Given the description of an element on the screen output the (x, y) to click on. 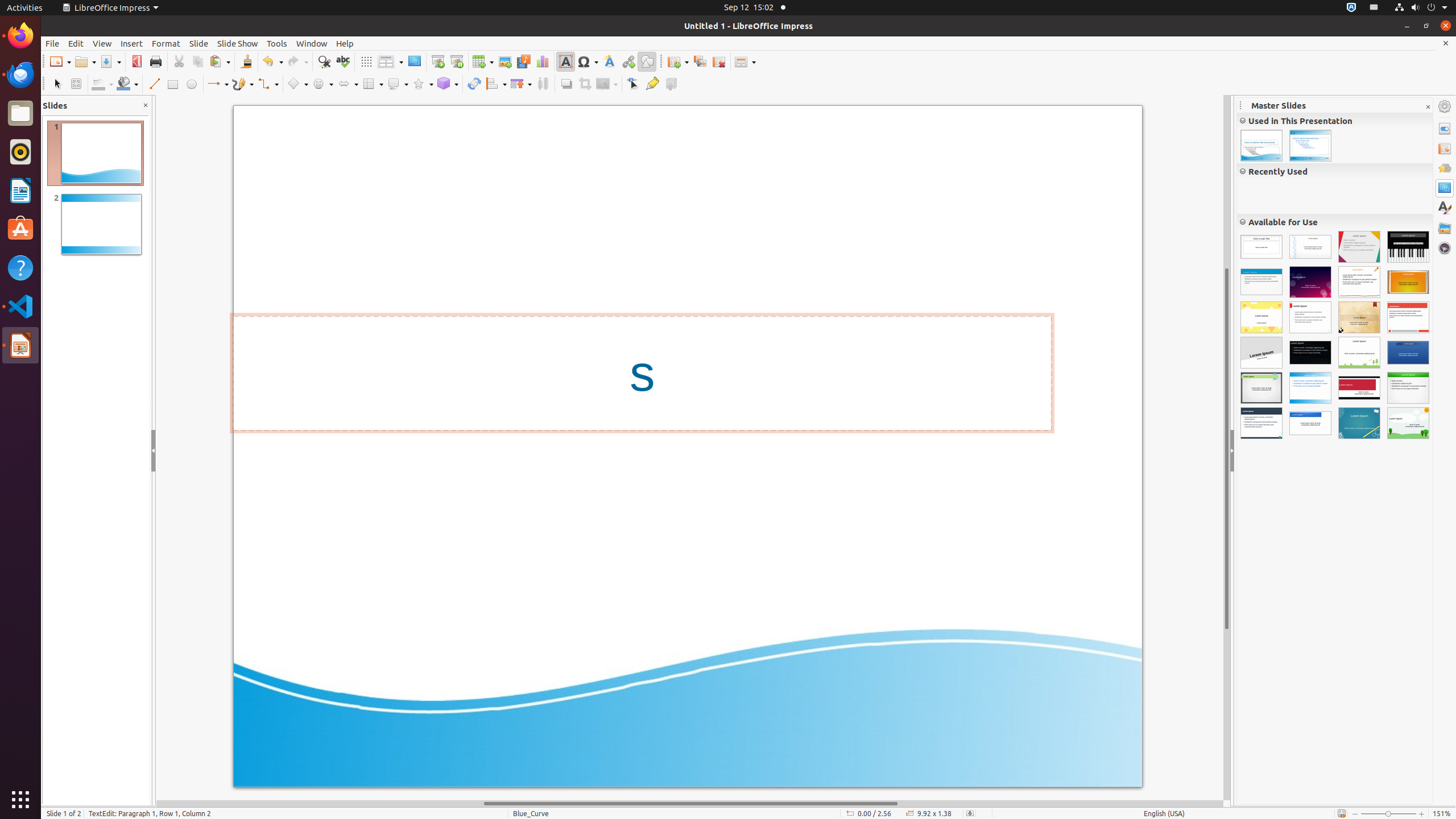
Open Element type: push-button (84, 61)
Table Element type: push-button (482, 61)
Master Slides Element type: radio-button (1444, 188)
